Given the description of an element on the screen output the (x, y) to click on. 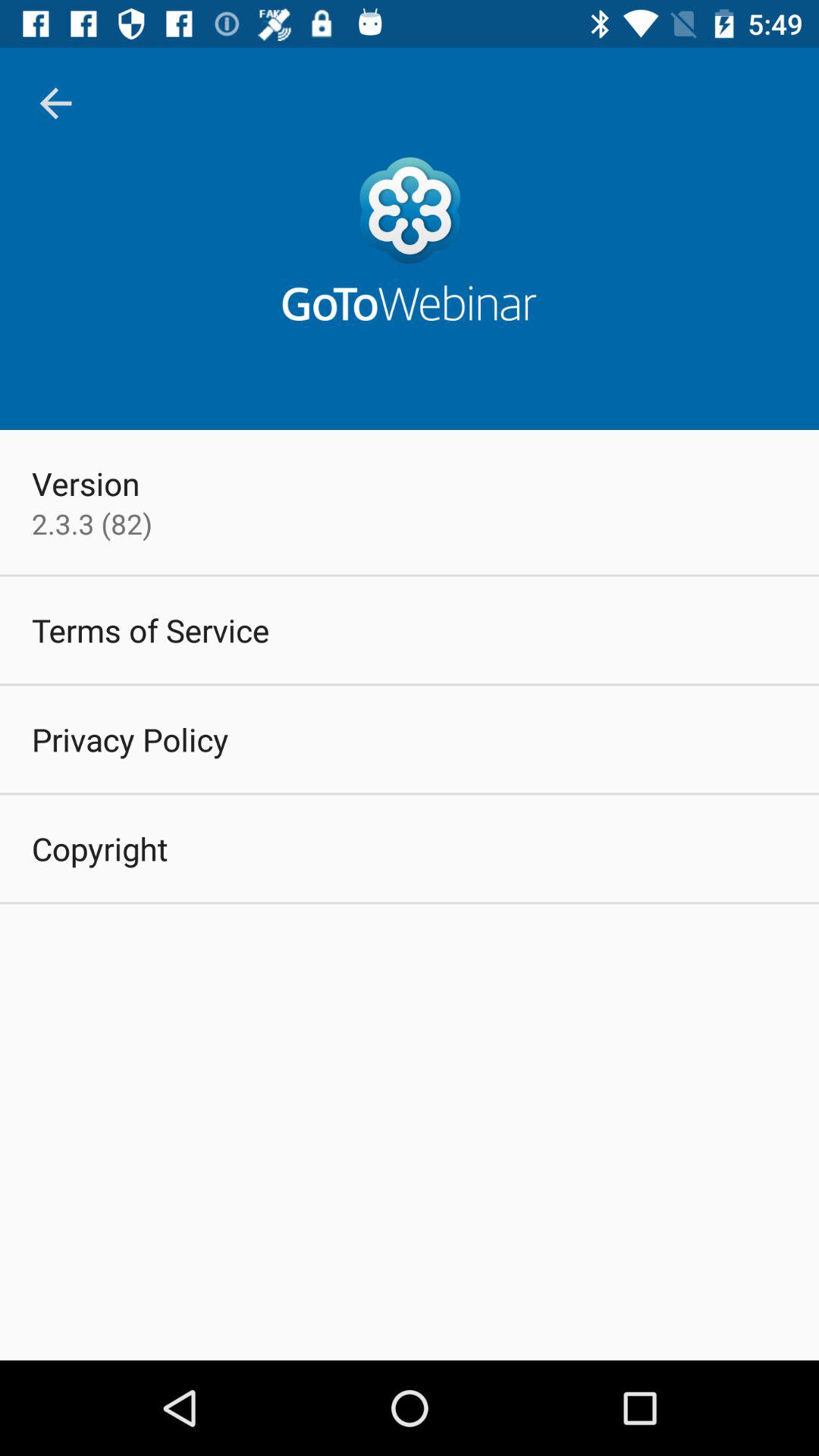
open copyright (99, 848)
